Given the description of an element on the screen output the (x, y) to click on. 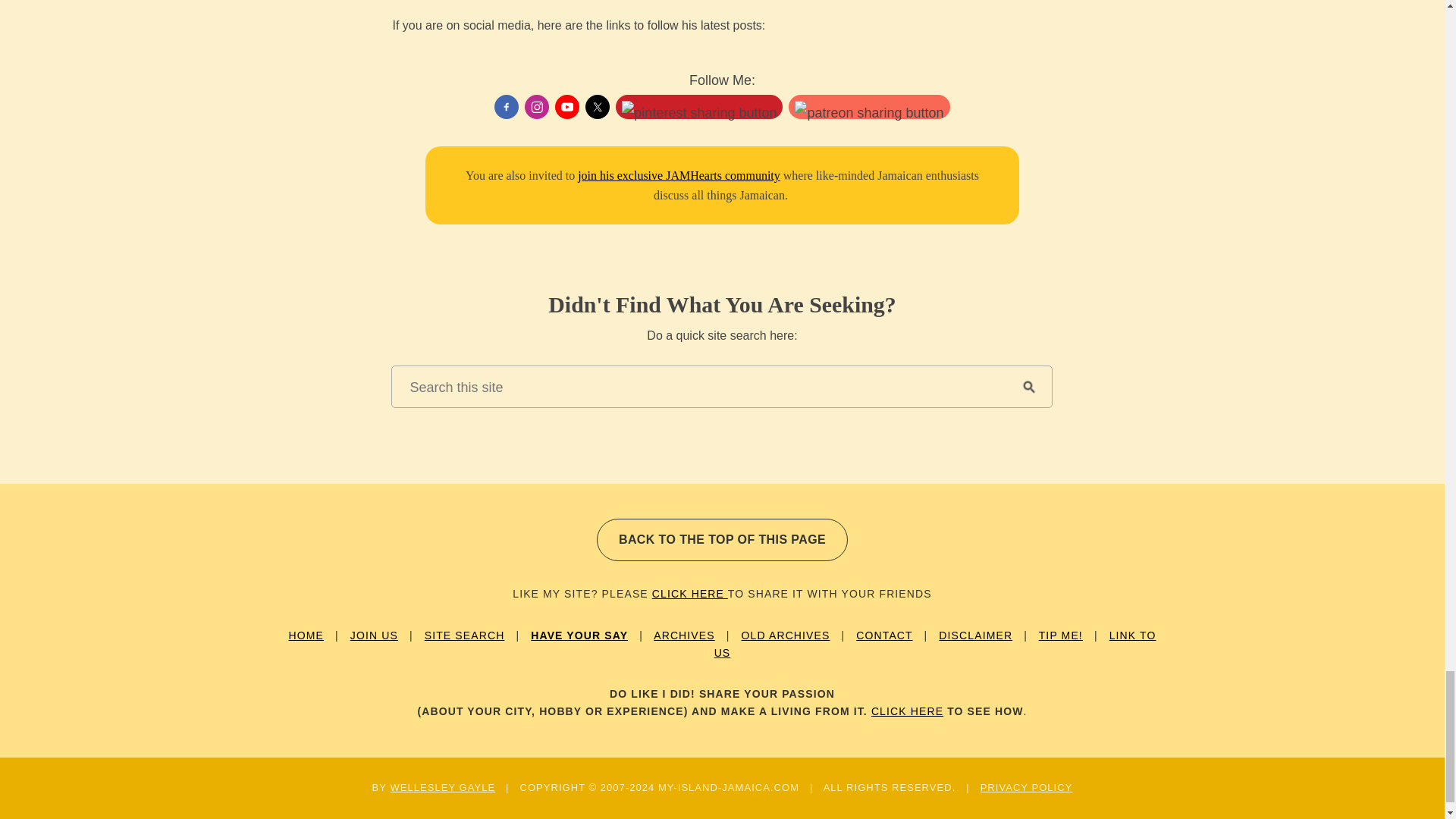
Search this site (698, 386)
Search this site (698, 386)
Go (1028, 386)
